Given the description of an element on the screen output the (x, y) to click on. 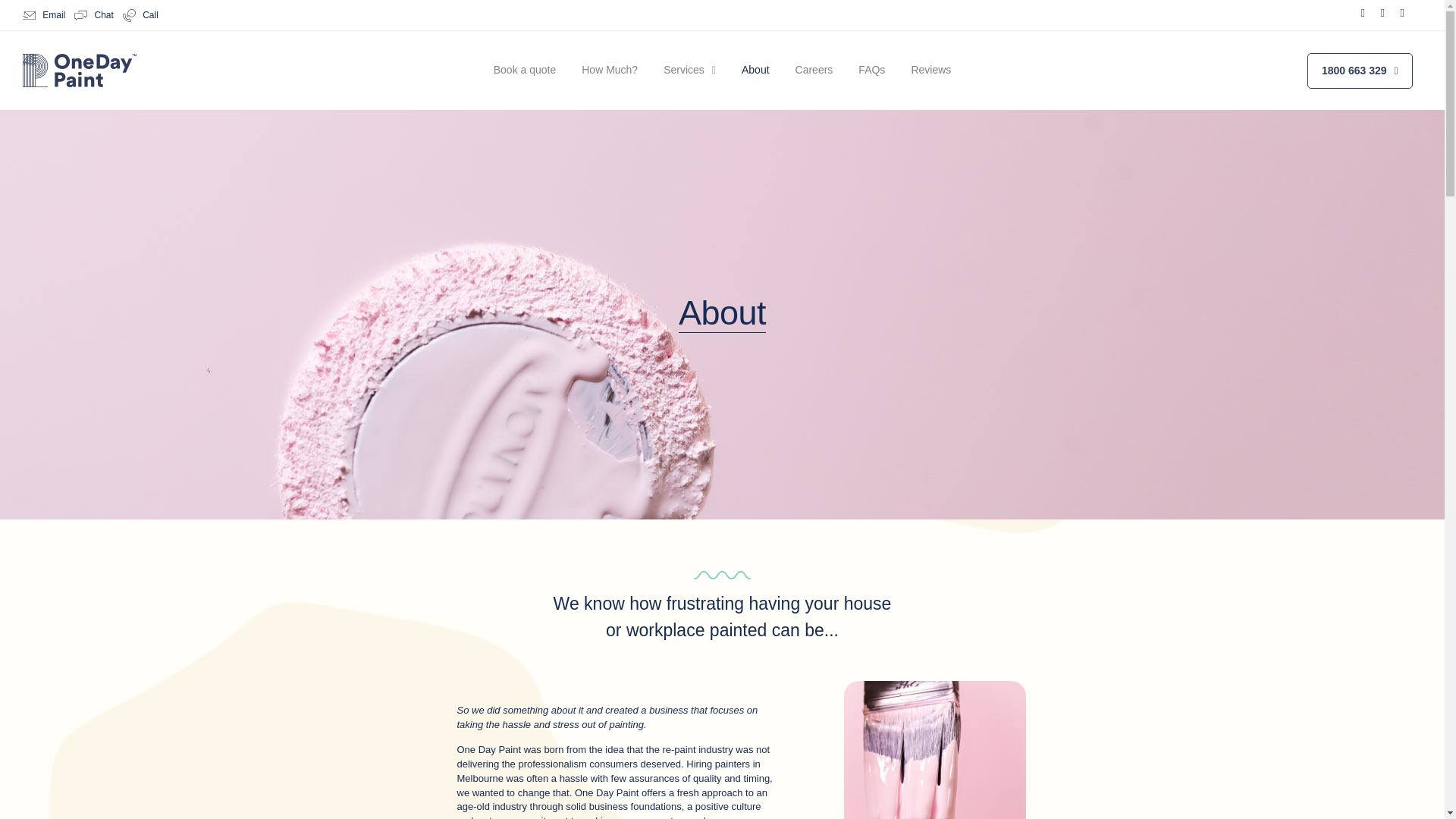
Careers (814, 69)
Chat (93, 15)
FAQs (871, 69)
Email (44, 15)
Reviews (930, 69)
Call (140, 15)
Book a quote (524, 69)
Services (689, 69)
How Much? (609, 69)
ODP logo (79, 70)
